Given the description of an element on the screen output the (x, y) to click on. 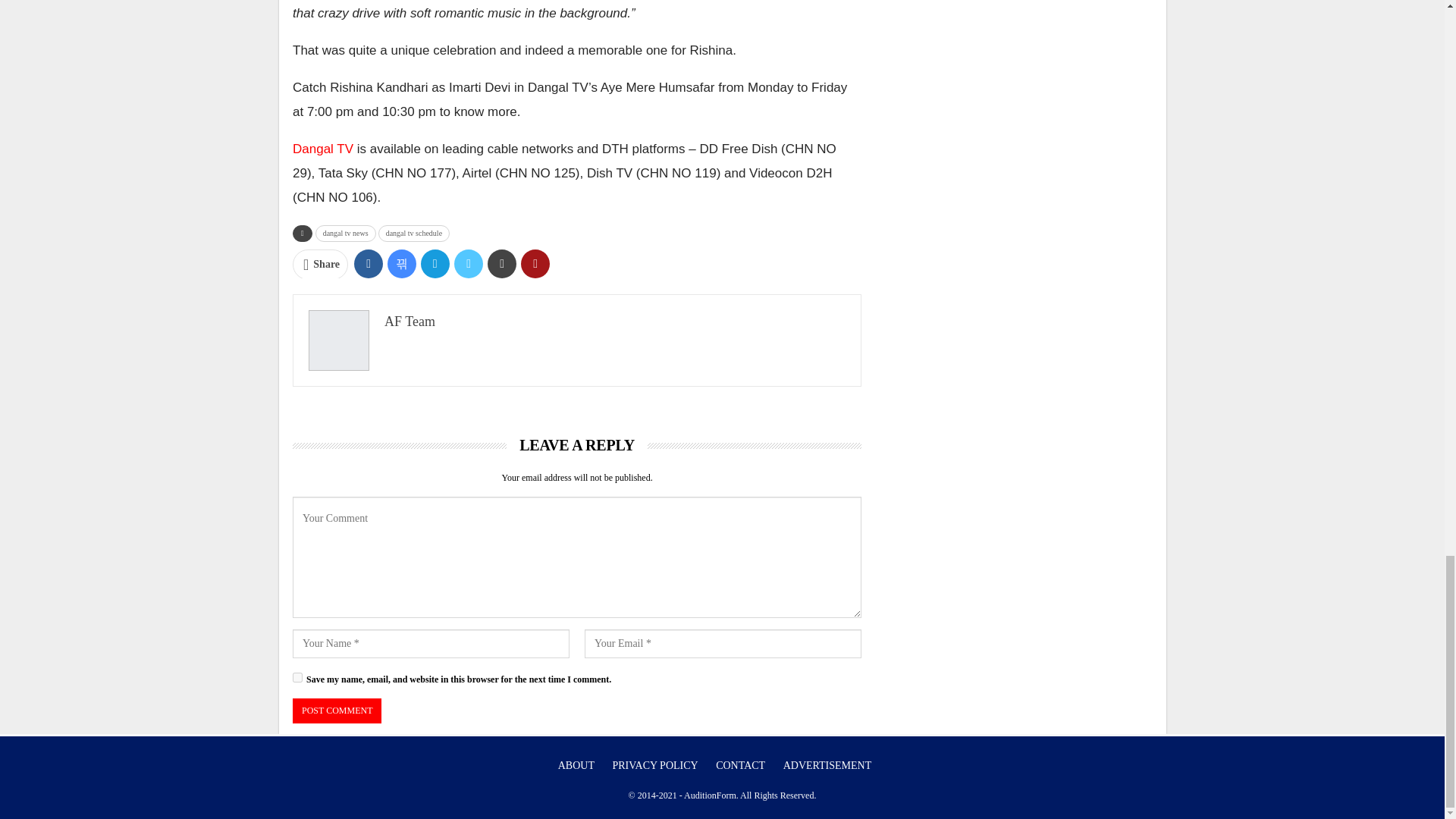
Post Comment (336, 710)
yes (297, 677)
